Given the description of an element on the screen output the (x, y) to click on. 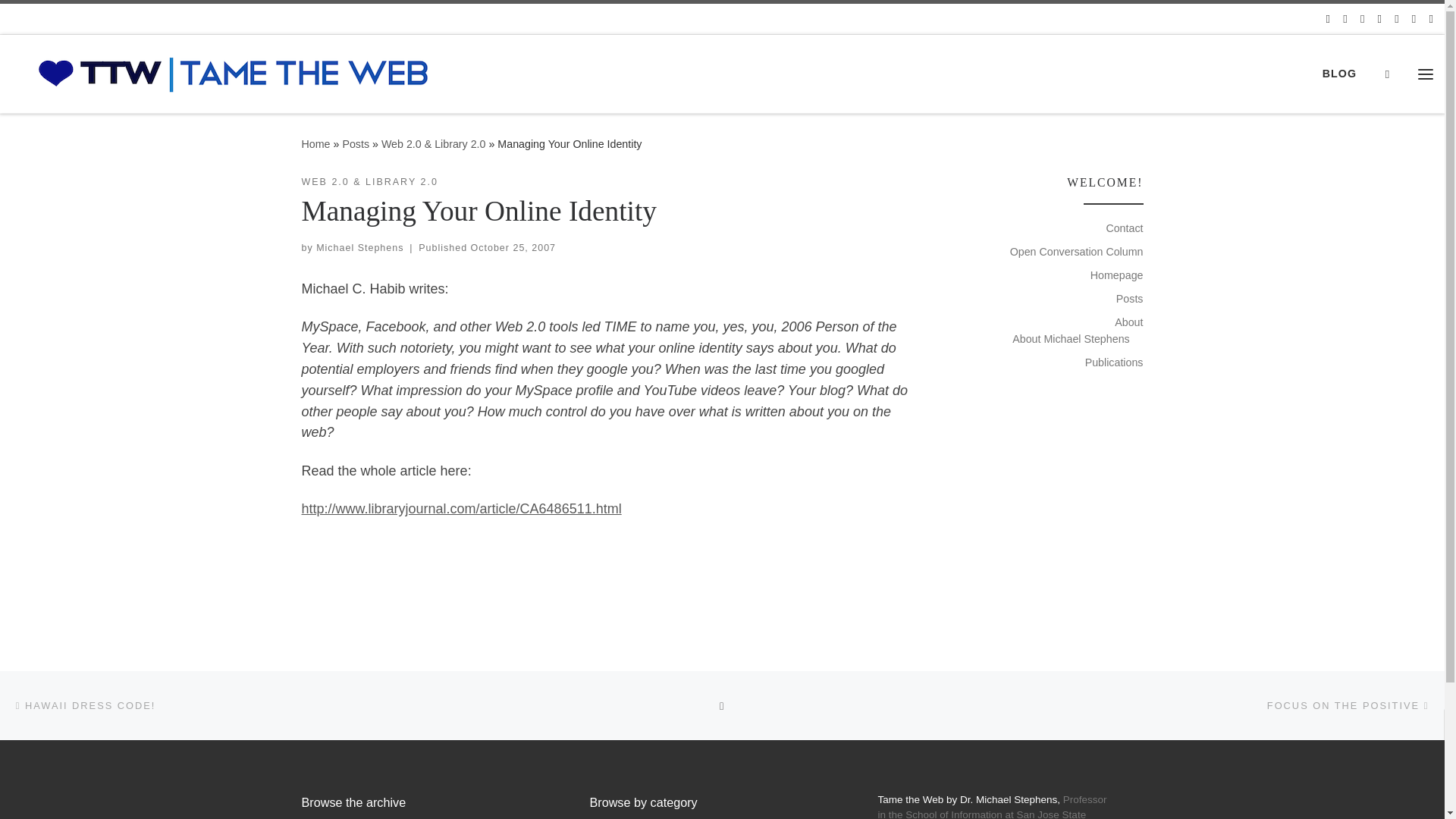
Open Conversation Column (1076, 251)
Back to post list (722, 705)
Homepage (1116, 274)
BACK TO POST LIST (722, 705)
Posts (1129, 298)
Search (1387, 73)
BLOG (1339, 73)
October 25, 2007 (513, 247)
Home (315, 143)
Tame the Web (315, 143)
HAWAII DRESS CODE! (83, 705)
Publications (1113, 362)
Michael Stephens (359, 247)
View all posts by Michael Stephens (359, 247)
Follow me on Instagram (1395, 18)
